Given the description of an element on the screen output the (x, y) to click on. 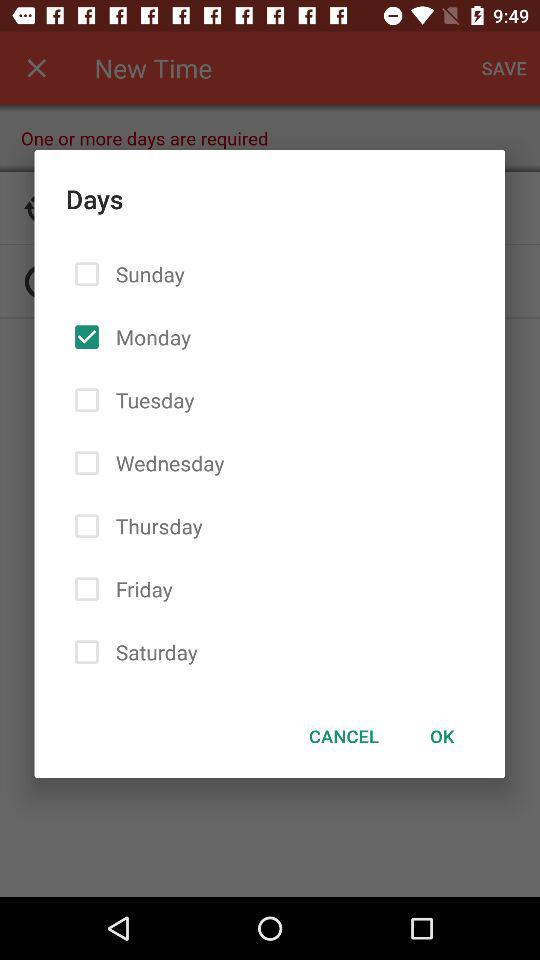
select icon to the right of the cancel (441, 735)
